Given the description of an element on the screen output the (x, y) to click on. 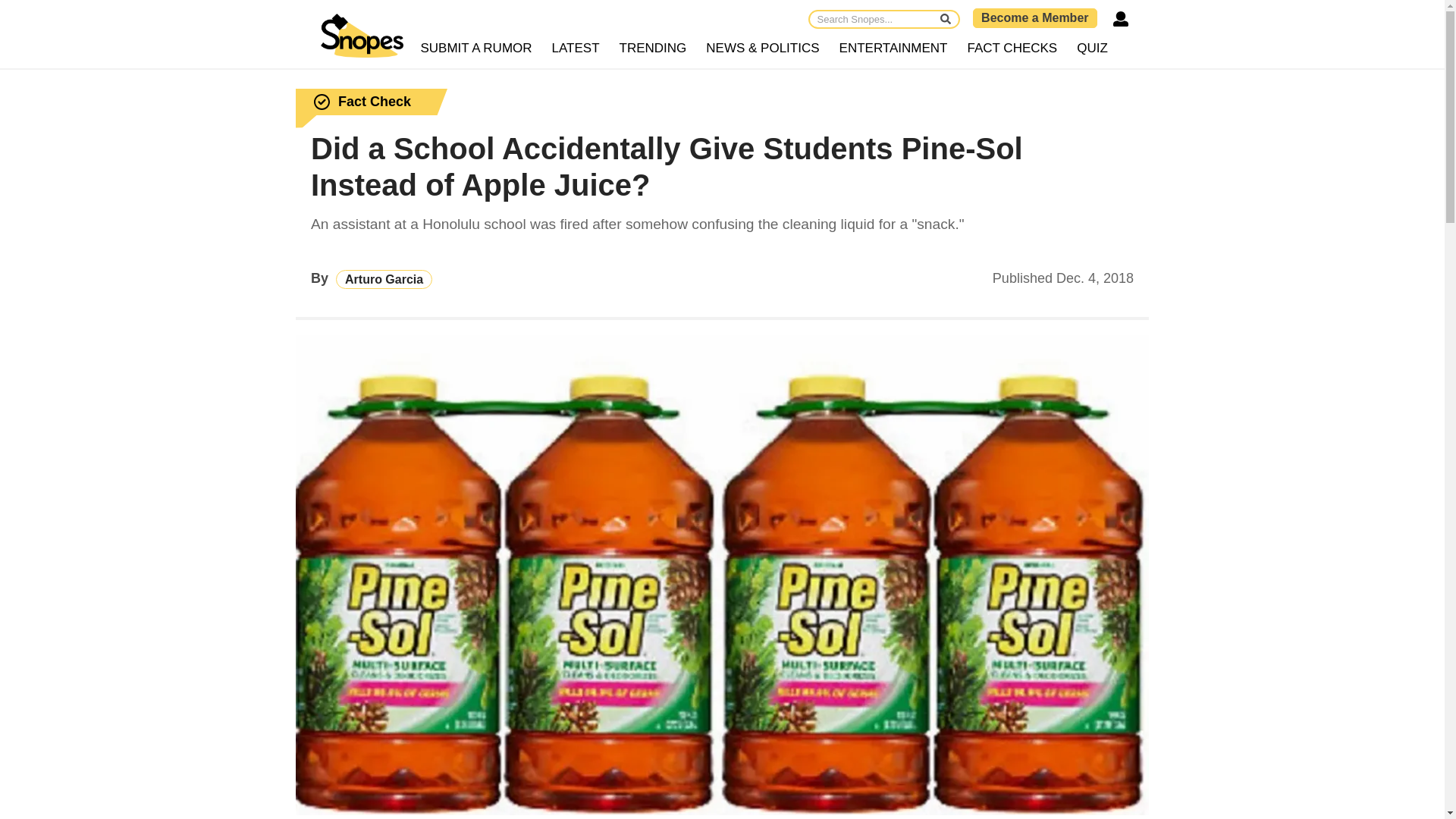
FACT CHECKS (1011, 47)
TRENDING (653, 47)
Become a Member (1034, 17)
QUIZ (1092, 47)
ENTERTAINMENT (893, 47)
SUBMIT A RUMOR (475, 47)
Arturo Garcia (384, 279)
LATEST (576, 47)
